Given the description of an element on the screen output the (x, y) to click on. 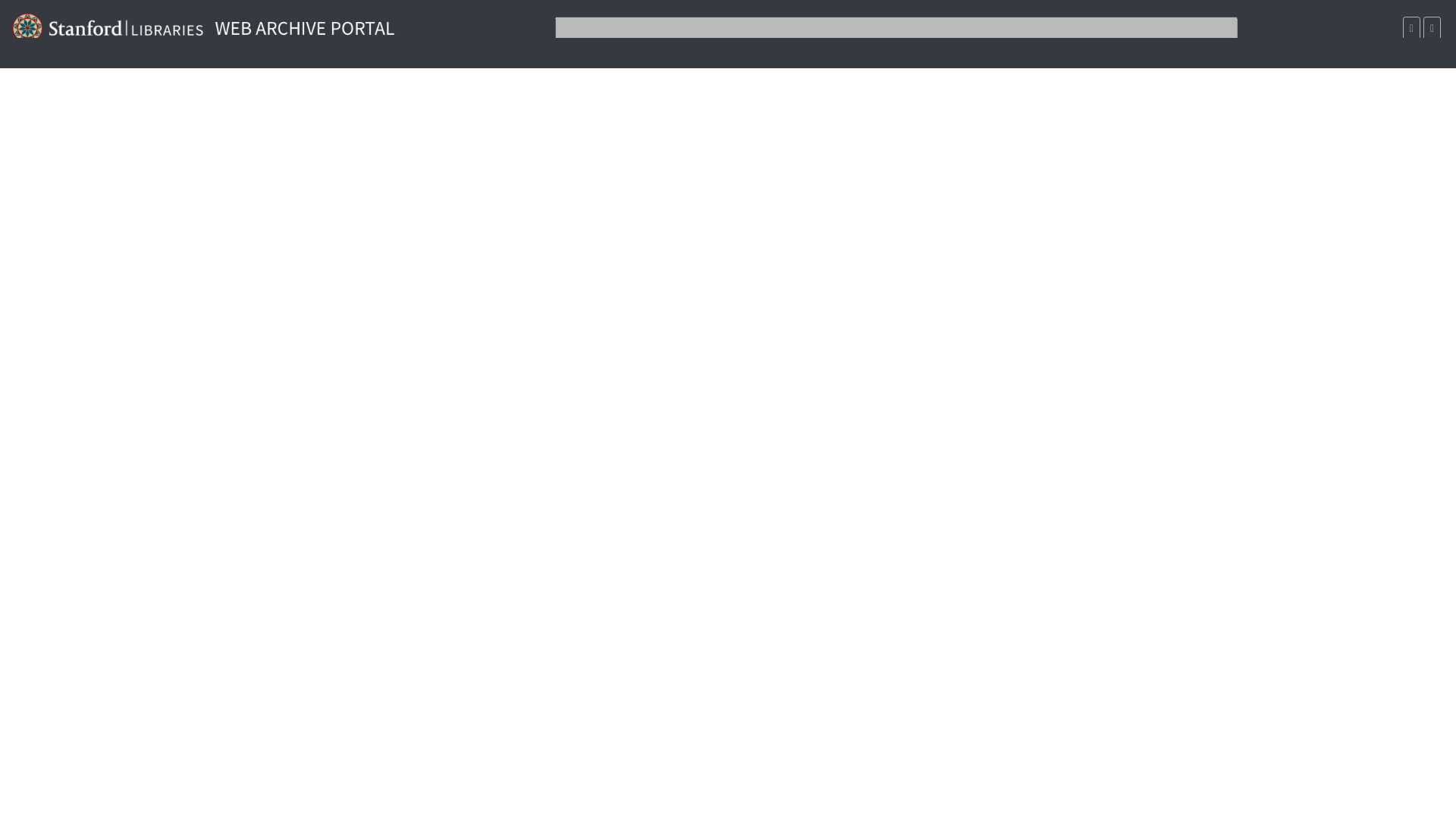
Show calendar (1412, 28)
Show timeline (1432, 28)
